Given the description of an element on the screen output the (x, y) to click on. 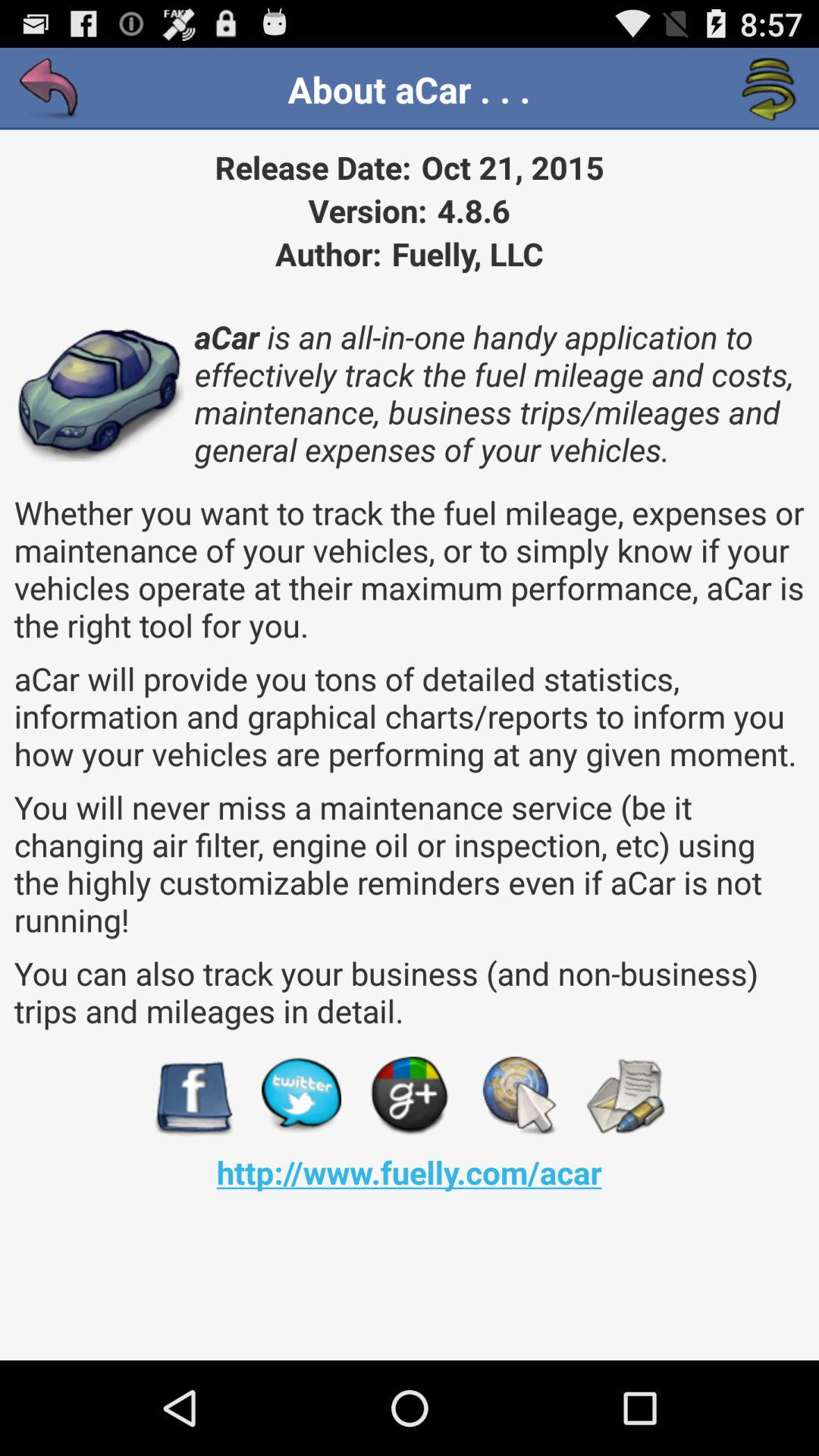
launch icon at the top left corner (49, 89)
